Given the description of an element on the screen output the (x, y) to click on. 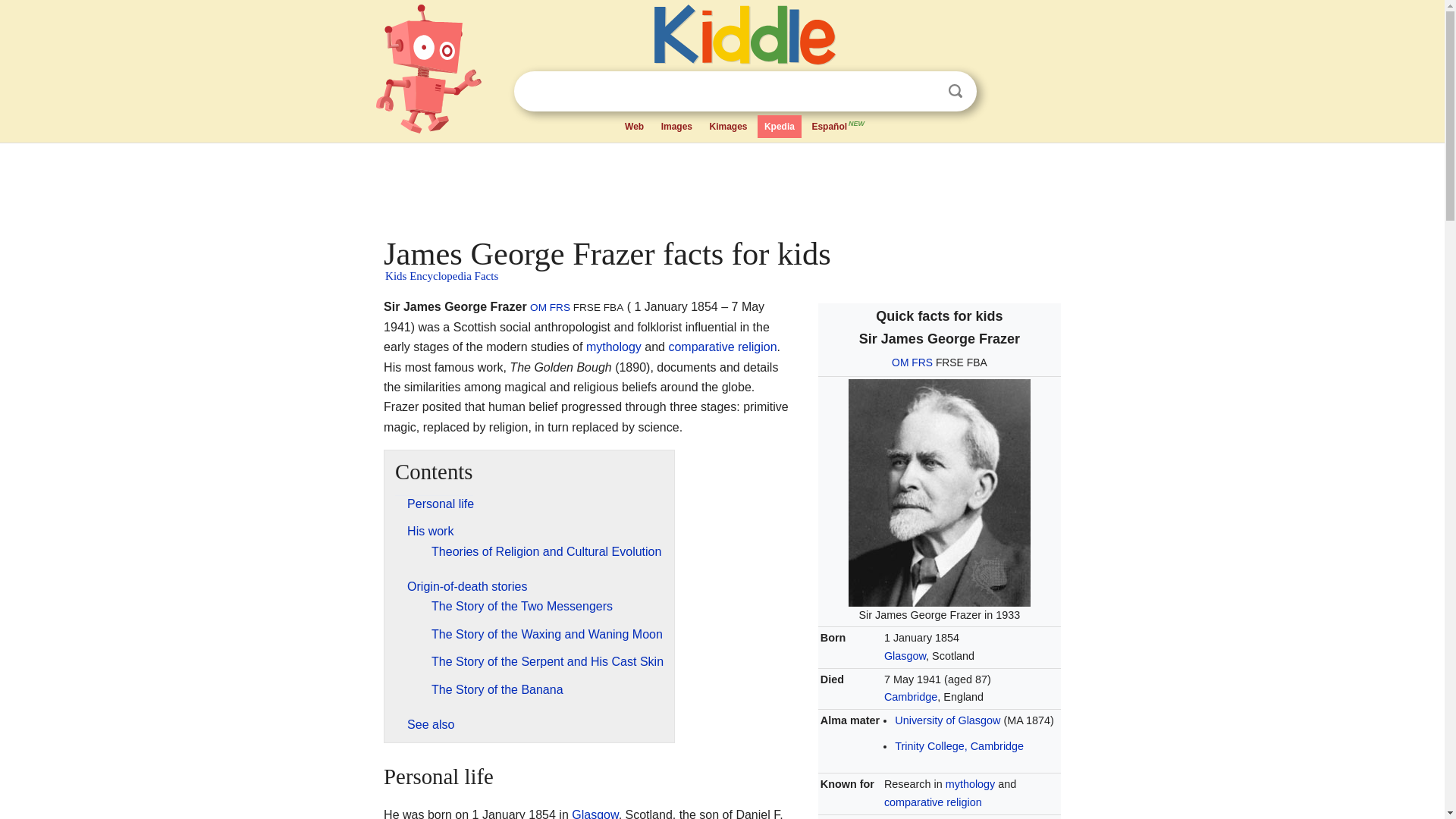
Trinity College, Cambridge (959, 746)
Images (675, 126)
Kpedia (779, 126)
mythology (614, 346)
Trinity College, Cambridge (959, 746)
The Story of the Waxing and Waning Moon (546, 634)
Personal life (440, 503)
Theories of Religion and Cultural Evolution (545, 551)
Comparative religion (932, 802)
Fellow of the Royal Society (922, 362)
comparative religion (722, 346)
Origin-of-death stories (467, 585)
OM (899, 362)
University of Glasgow (947, 720)
FRS (560, 307)
